Given the description of an element on the screen output the (x, y) to click on. 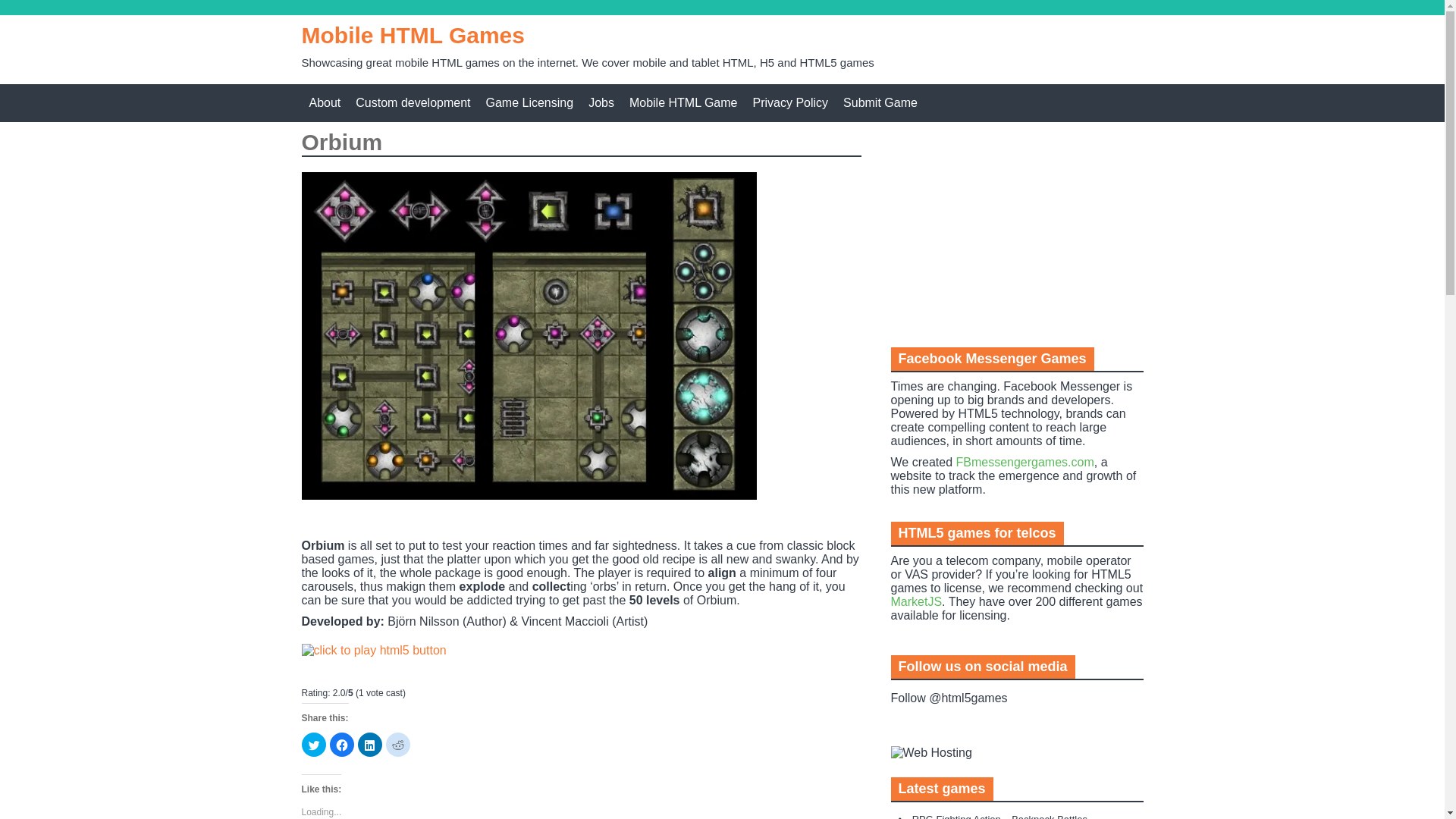
Game Licensing (528, 103)
Click to share on LinkedIn (369, 744)
Click to share on Reddit (397, 744)
Jobs (600, 103)
Mobile HTML Game (683, 103)
Custom development (412, 103)
About (325, 103)
Submit Game (879, 103)
Mobile HTML Games (413, 34)
